Given the description of an element on the screen output the (x, y) to click on. 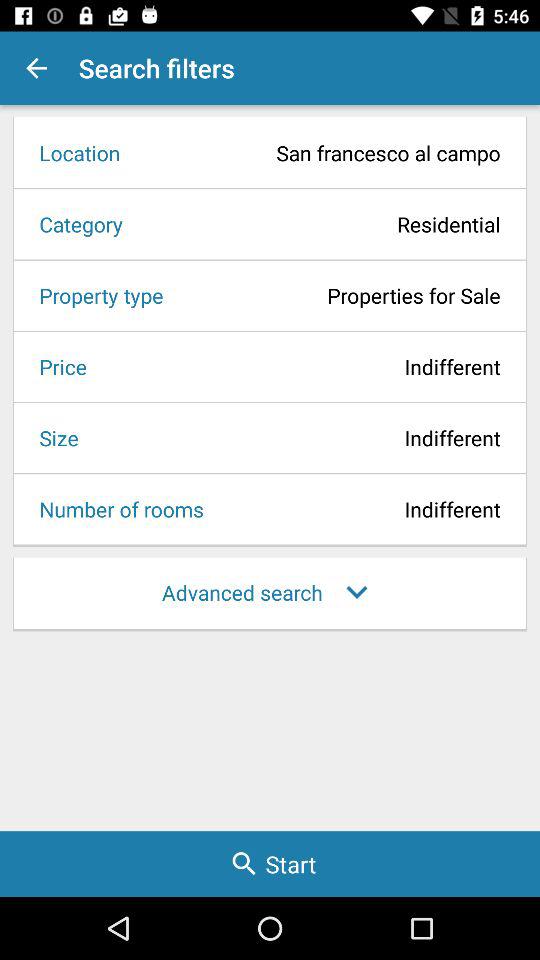
choose icon to the right of category (318, 224)
